Given the description of an element on the screen output the (x, y) to click on. 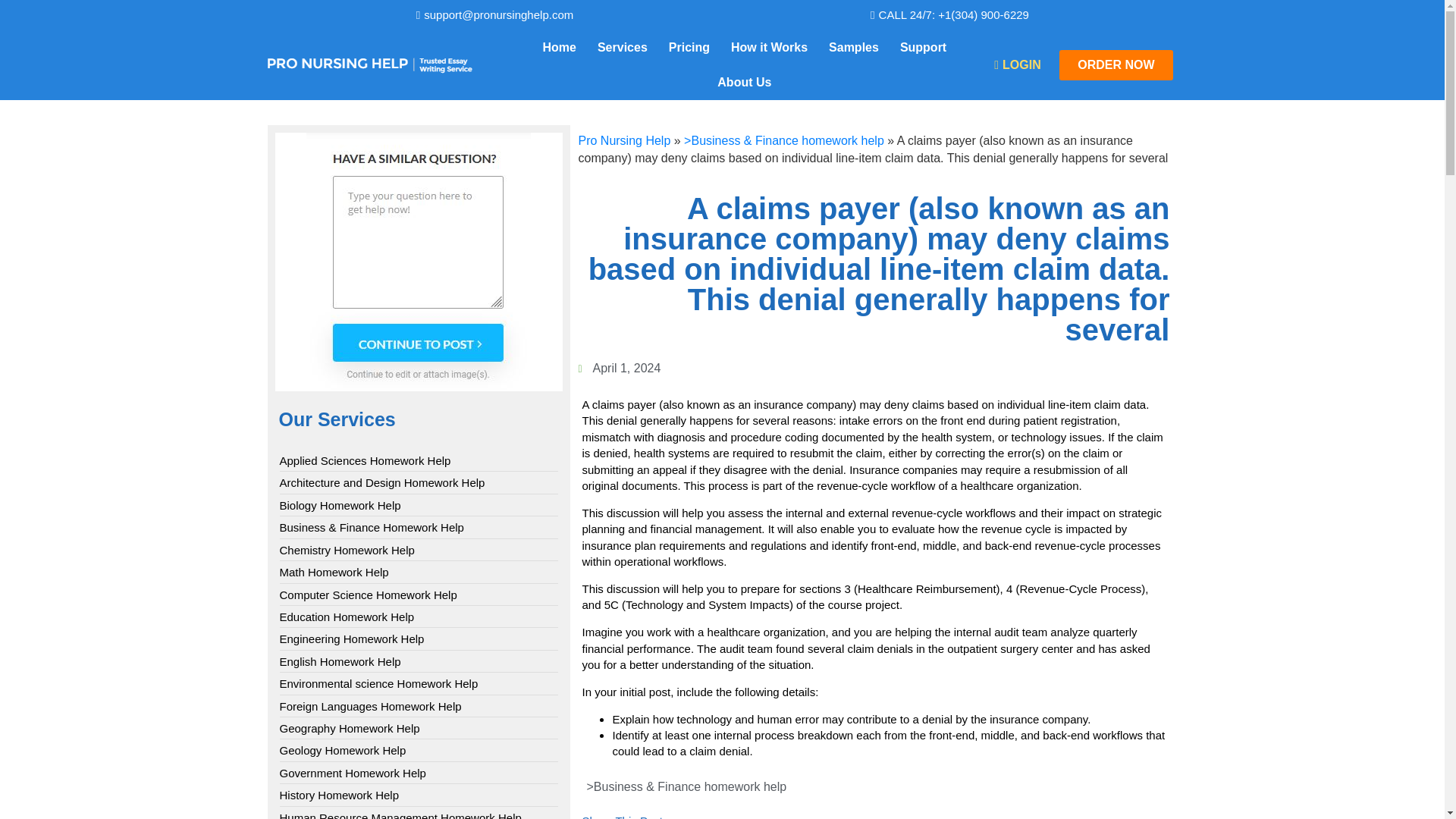
Environmental science Homework Help (378, 683)
Education Homework Help (346, 616)
Support (922, 47)
Applied Sciences Homework Help (364, 460)
English Homework Help (339, 661)
Computer Science Homework Help (368, 594)
Geology Homework Help (342, 750)
Foreign Languages Homework Help (370, 706)
How it Works (769, 47)
Math Homework Help (333, 571)
History Homework Help (338, 795)
Chemistry Homework Help (346, 549)
Pricing (689, 47)
LOGIN (1017, 64)
Engineering Homework Help (351, 638)
